Given the description of an element on the screen output the (x, y) to click on. 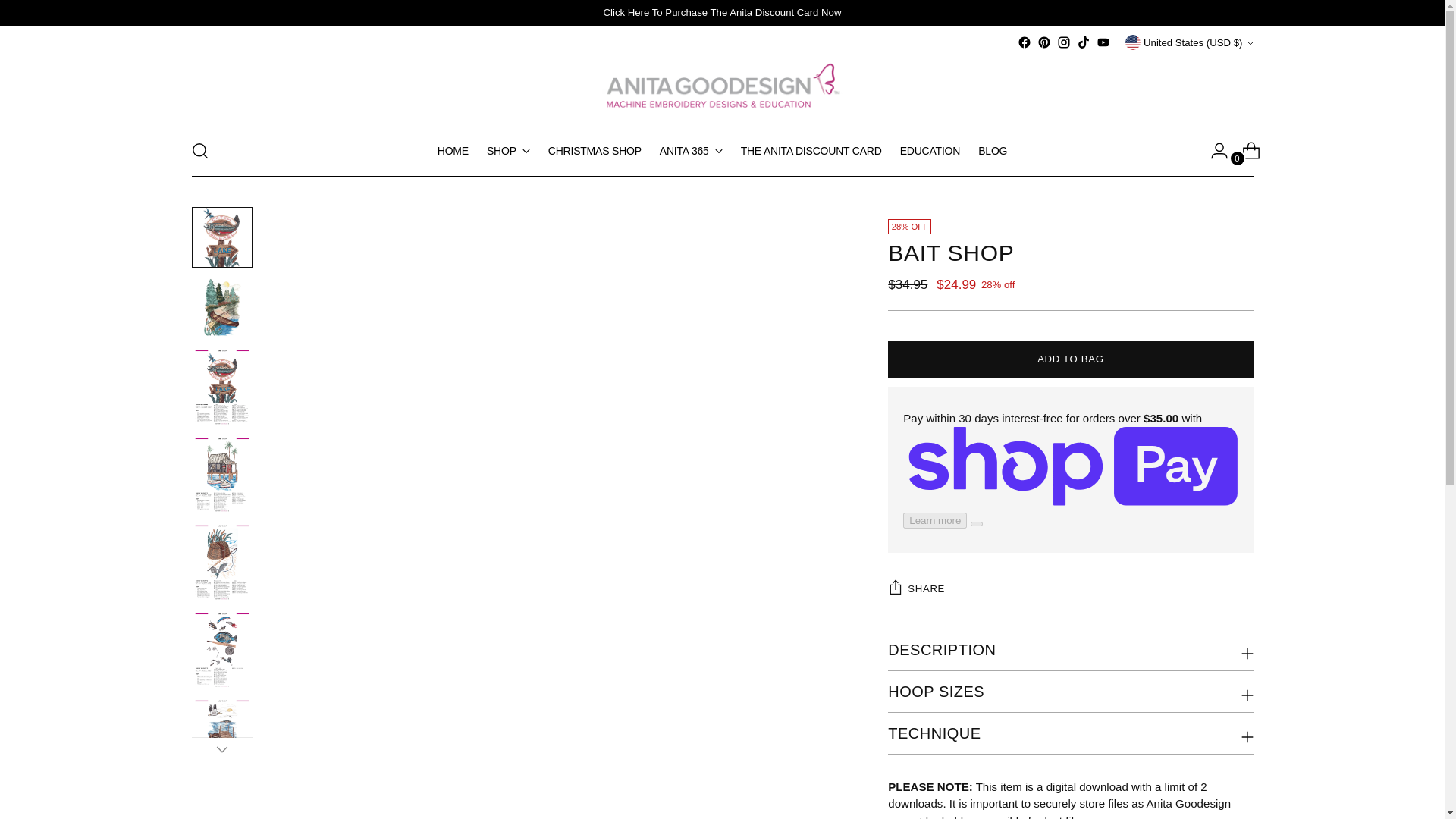
Down (220, 748)
Anita Goodesign on Instagram (1063, 42)
Anita Goodesign on Facebook (1023, 42)
Anita Goodesign on Tiktok (1083, 42)
Anita Goodesign on YouTube (1102, 42)
Anita Goodesign on Pinterest (1043, 42)
Click Here To Purchase The Anita Discount Card Now (722, 12)
